Given the description of an element on the screen output the (x, y) to click on. 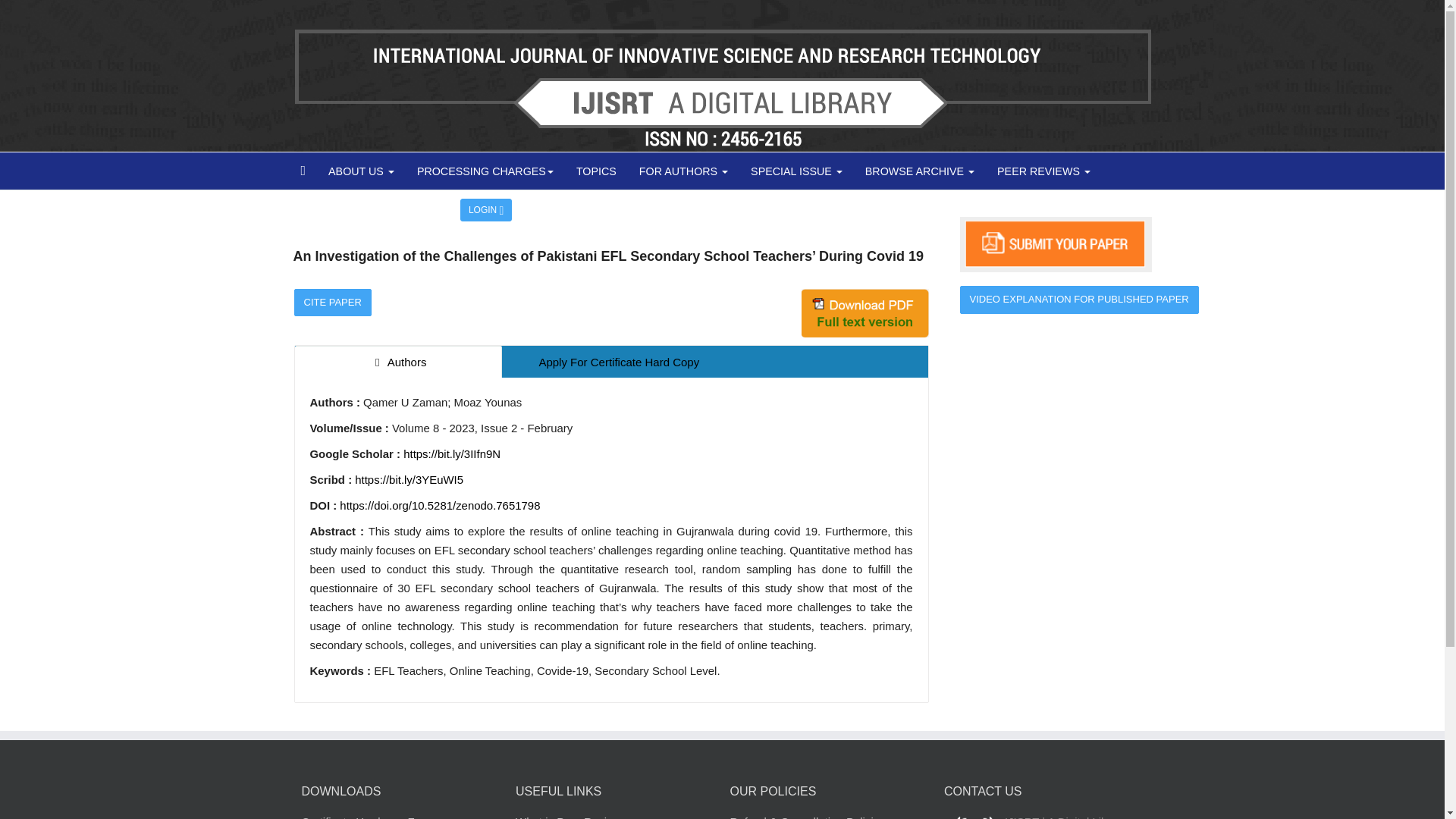
ABOUT US (361, 171)
TOPICS (595, 171)
PROCESSING CHARGES (485, 171)
SPECIAL ISSUE (796, 171)
FOR AUTHORS (683, 171)
Video Explanation for Published paper (1078, 299)
BROWSE ARCHIVE (919, 171)
